Given the description of an element on the screen output the (x, y) to click on. 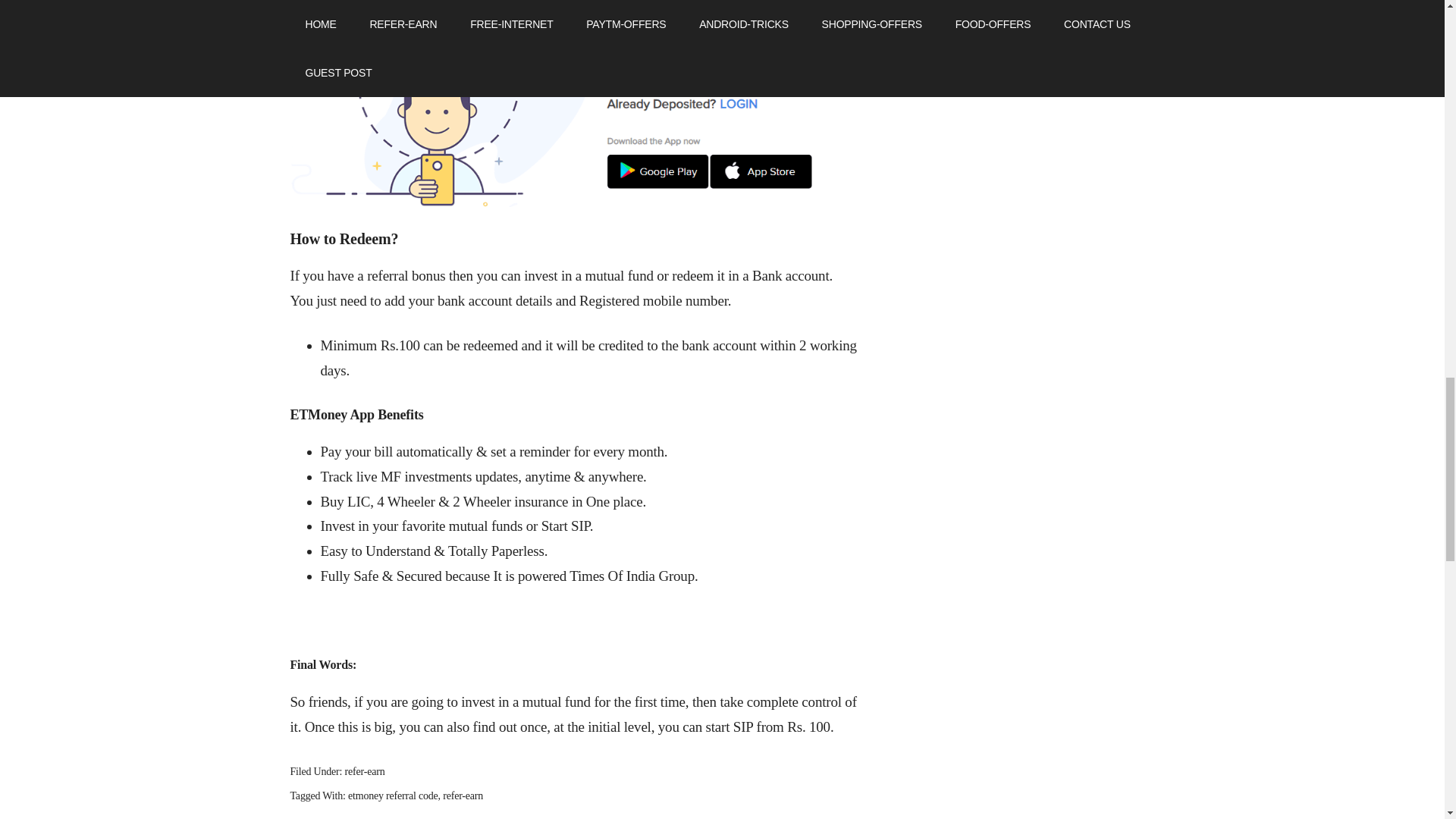
refer-earn (462, 795)
refer-earn (365, 771)
etmoney referral code (392, 795)
